Given the description of an element on the screen output the (x, y) to click on. 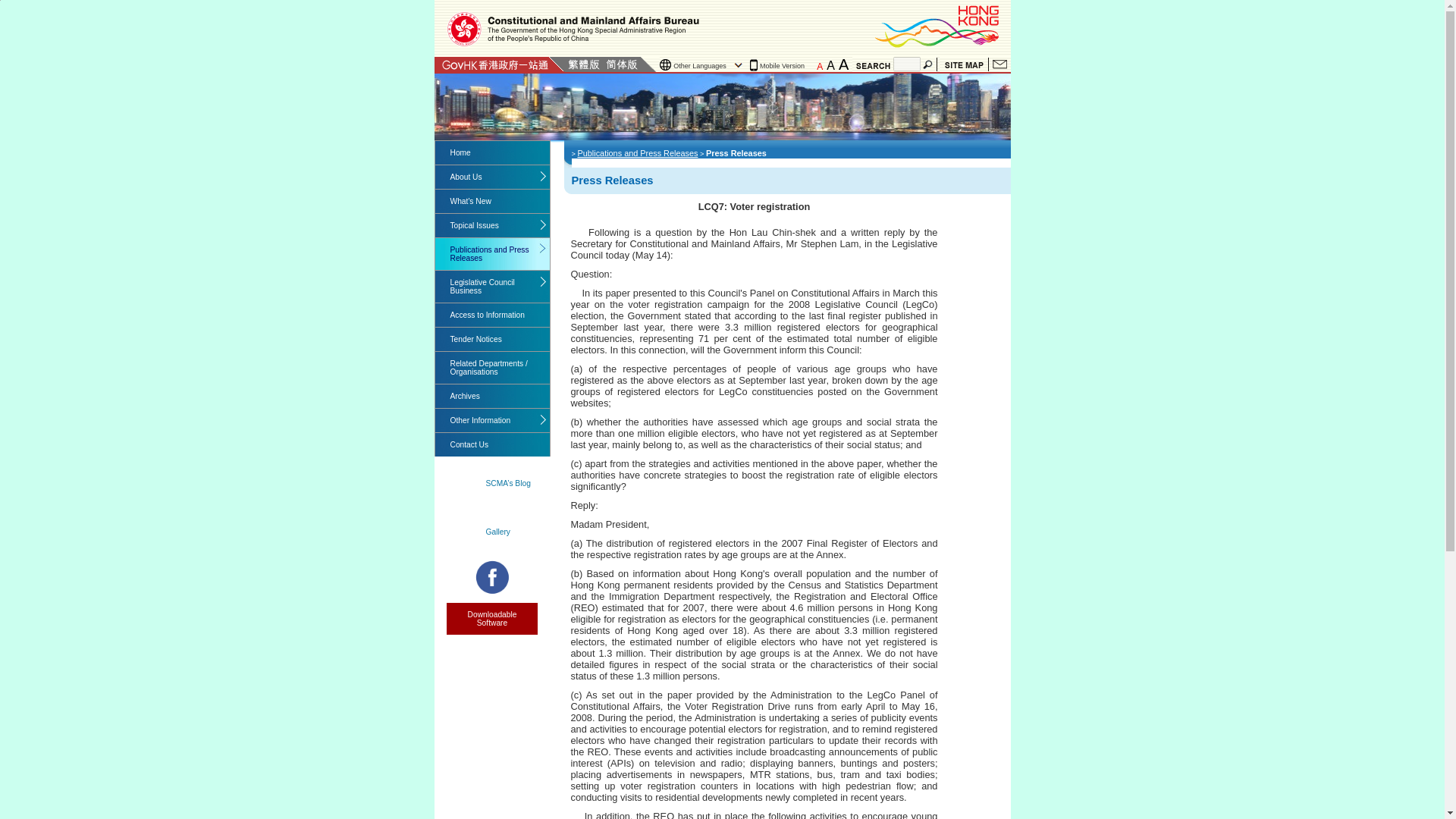
Contact Us (999, 64)
Site Map (963, 64)
Traditional Chinese (583, 64)
Simplified Chinese (621, 64)
About Us (492, 177)
Search (928, 64)
What's New (492, 200)
Topical Issues (492, 225)
Other Languages (702, 65)
